Given the description of an element on the screen output the (x, y) to click on. 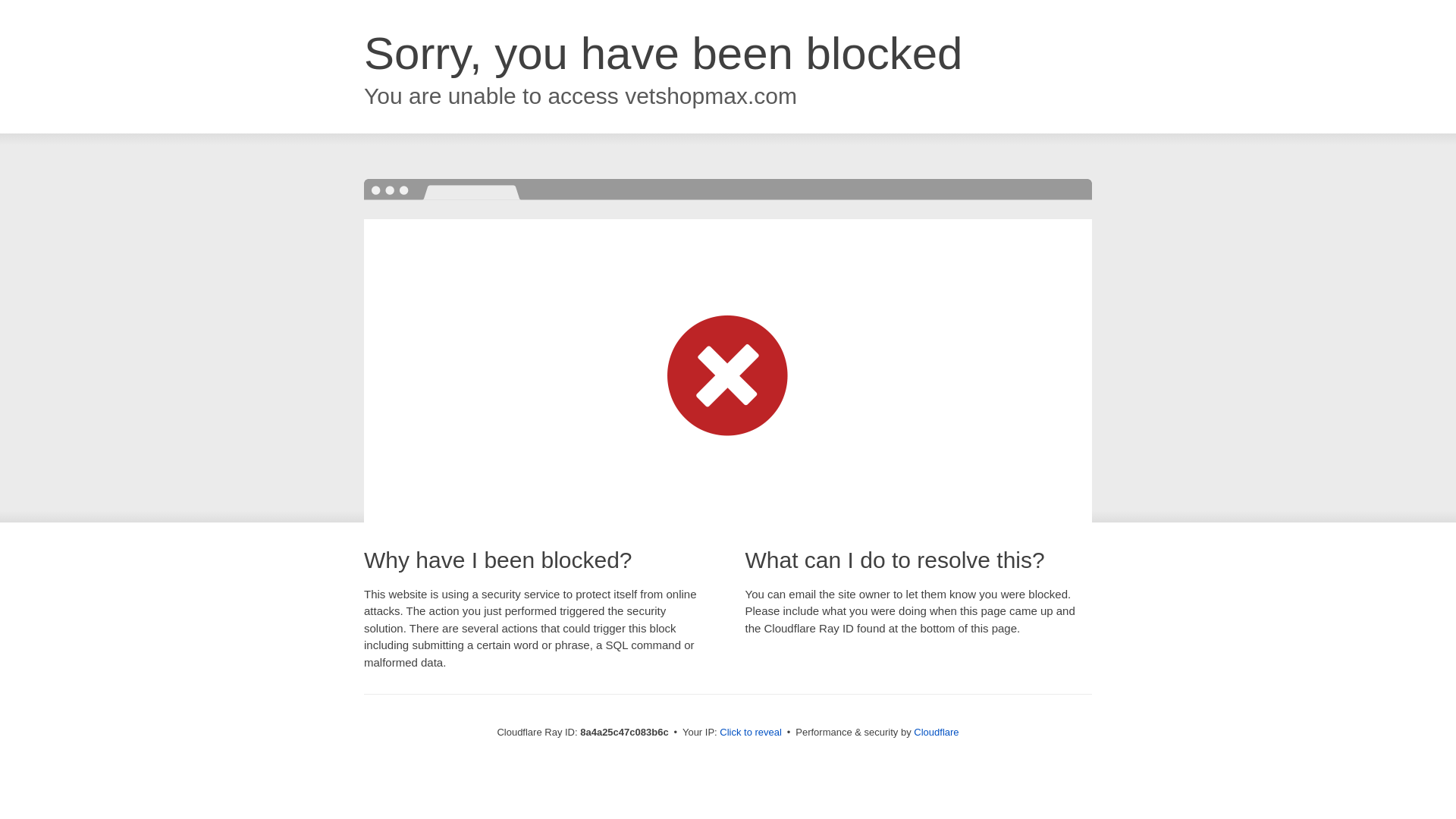
Click to reveal (750, 732)
Cloudflare (936, 731)
